Given the description of an element on the screen output the (x, y) to click on. 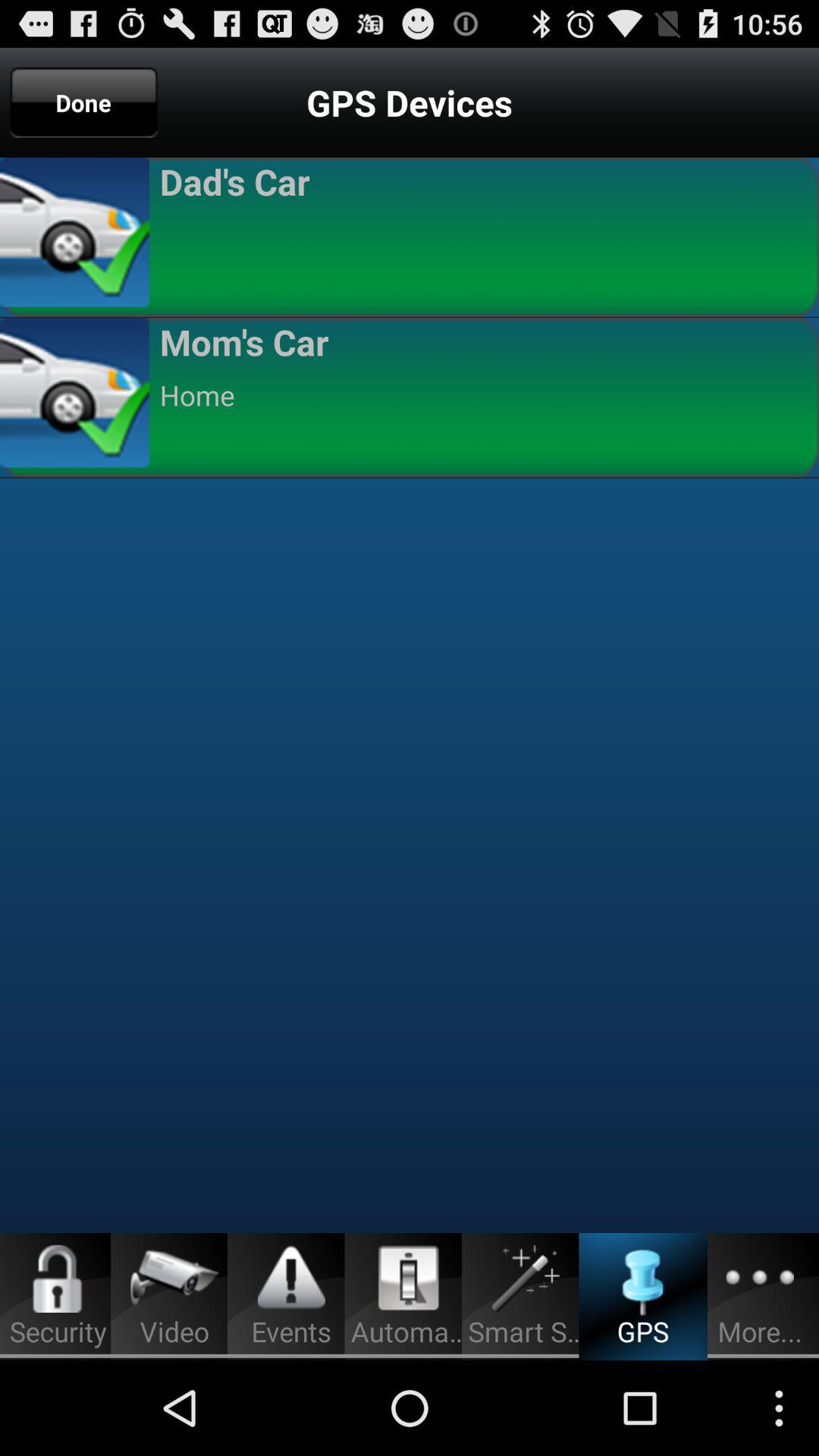
press the item next to gps devices icon (83, 102)
